Given the description of an element on the screen output the (x, y) to click on. 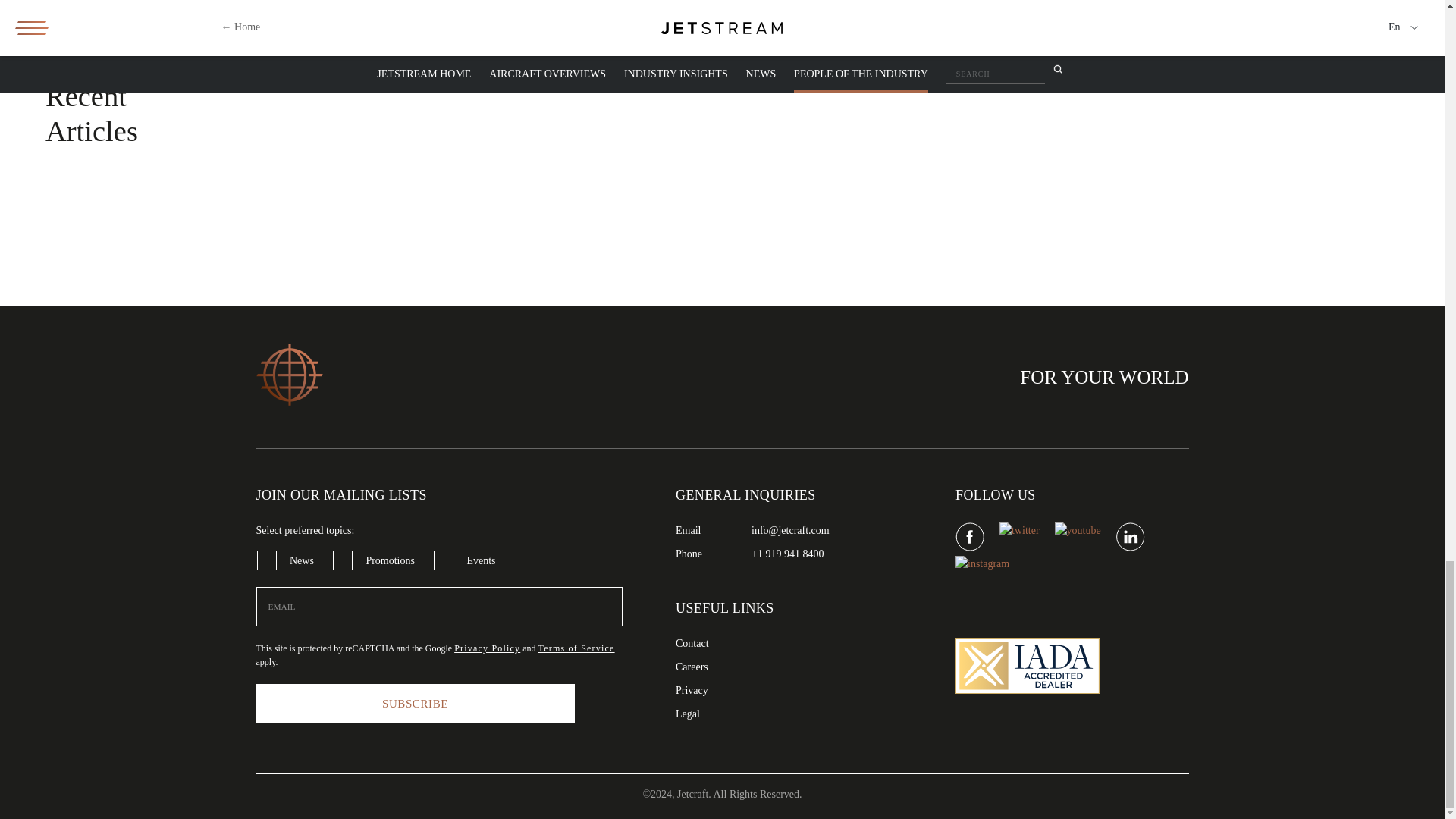
Subscribe (415, 703)
Subscribed (342, 560)
Subscribed (442, 560)
Subscribed (266, 560)
Privacy Policy (486, 647)
